Given the description of an element on the screen output the (x, y) to click on. 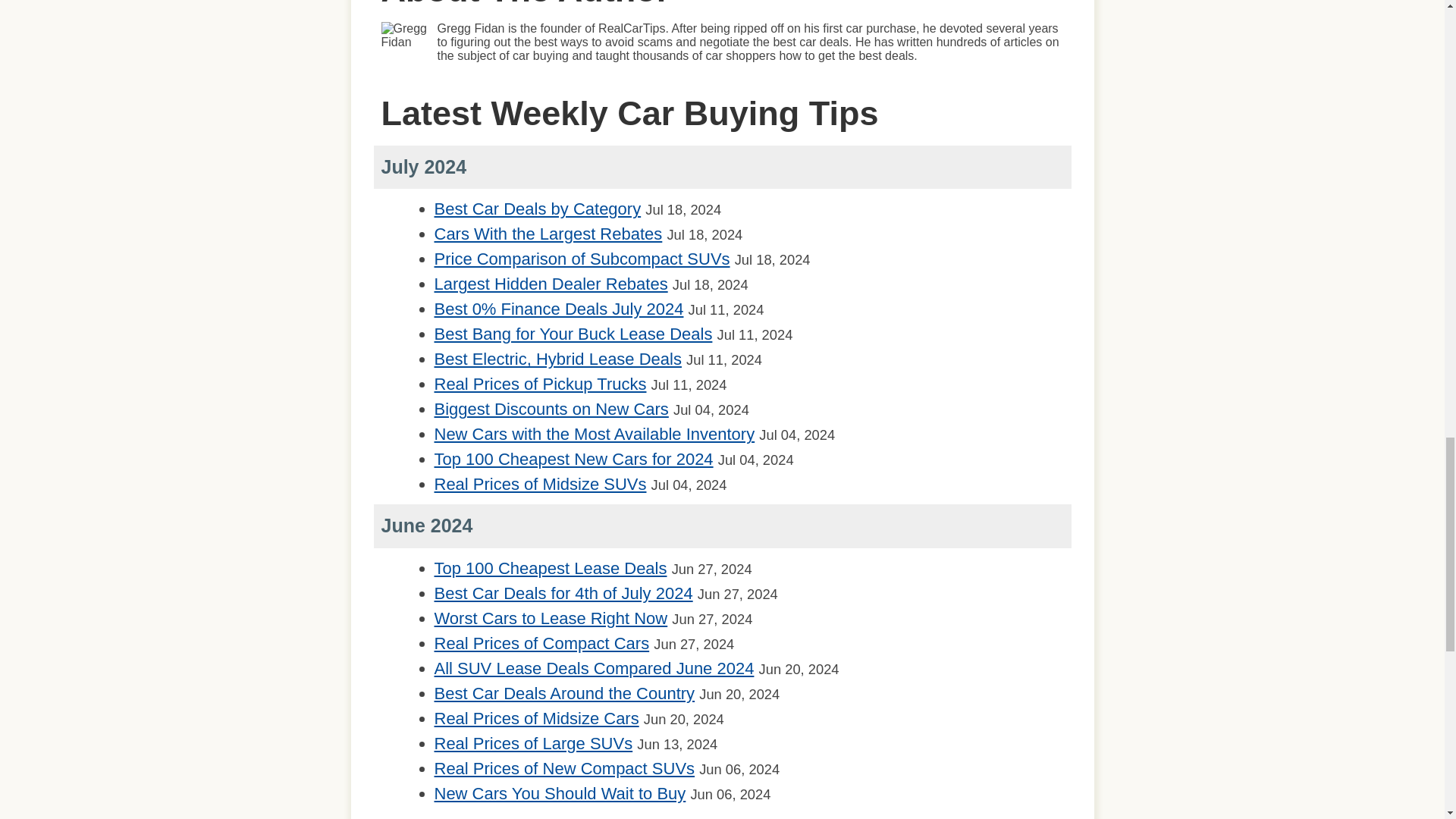
Best Car Deals by Category (536, 208)
All SUV Lease Deals Compared June 2024 (593, 668)
Cars With the Largest Rebates (547, 233)
New Cars You Should Wait to Buy (559, 793)
Best Bang for Your Buck Lease Deals (572, 333)
Top 100 Cheapest Lease Deals (549, 568)
Price Comparison of Subcompact SUVs (581, 258)
Worst Cars to Lease Right Now (549, 618)
Largest Hidden Dealer Rebates (549, 283)
Best Car Deals Around the Country (563, 692)
New Cars with the Most Available Inventory (593, 434)
Real Prices of Pickup Trucks (539, 383)
Real Prices of New Compact SUVs (563, 768)
Best Car Deals for 4th of July 2024 (563, 592)
Best Electric, Hybrid Lease Deals (557, 358)
